Given the description of an element on the screen output the (x, y) to click on. 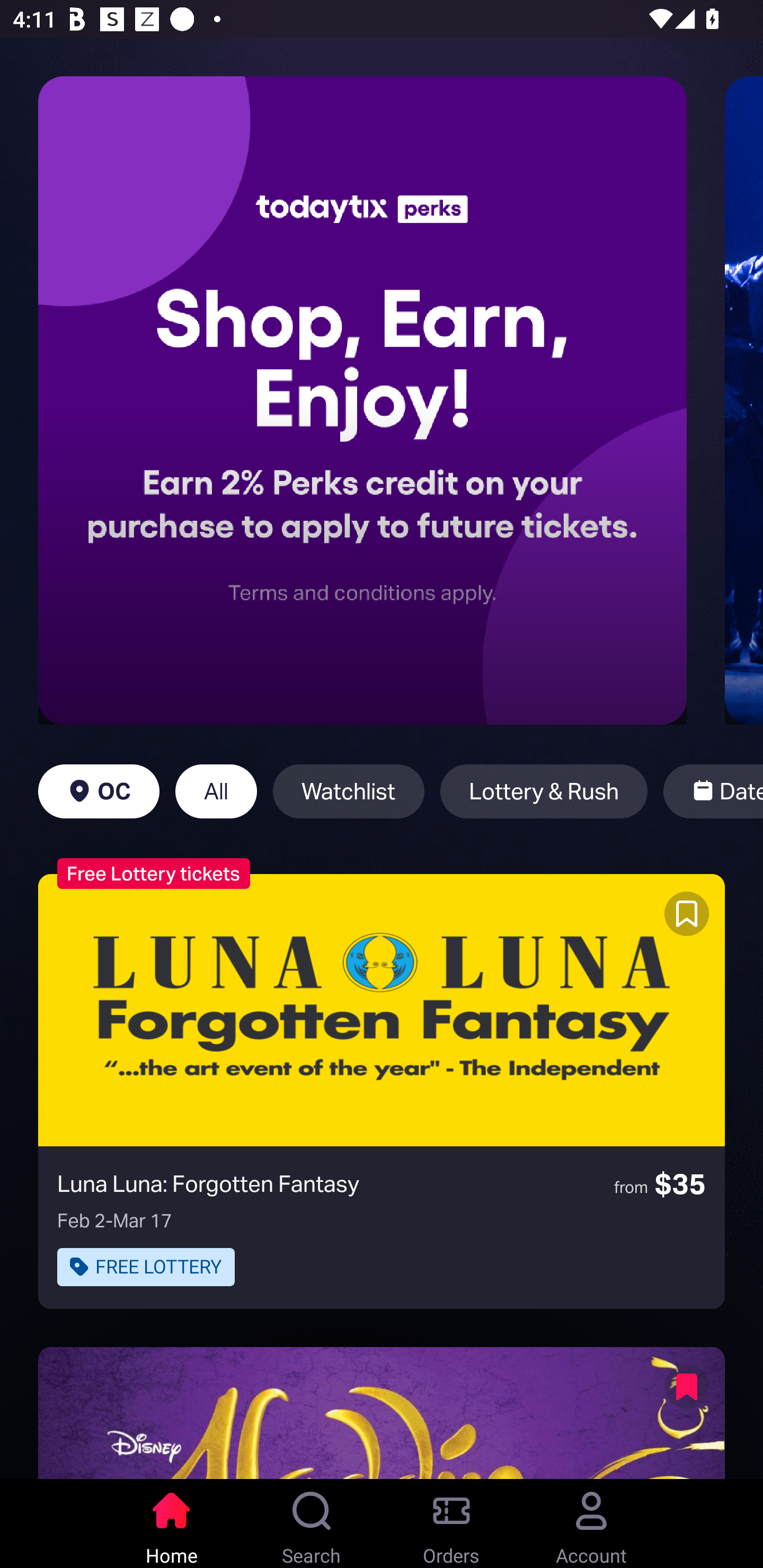
OC (98, 791)
All (216, 791)
Watchlist (348, 791)
Lottery & Rush (543, 791)
Search (311, 1523)
Orders (451, 1523)
Account (591, 1523)
